Given the description of an element on the screen output the (x, y) to click on. 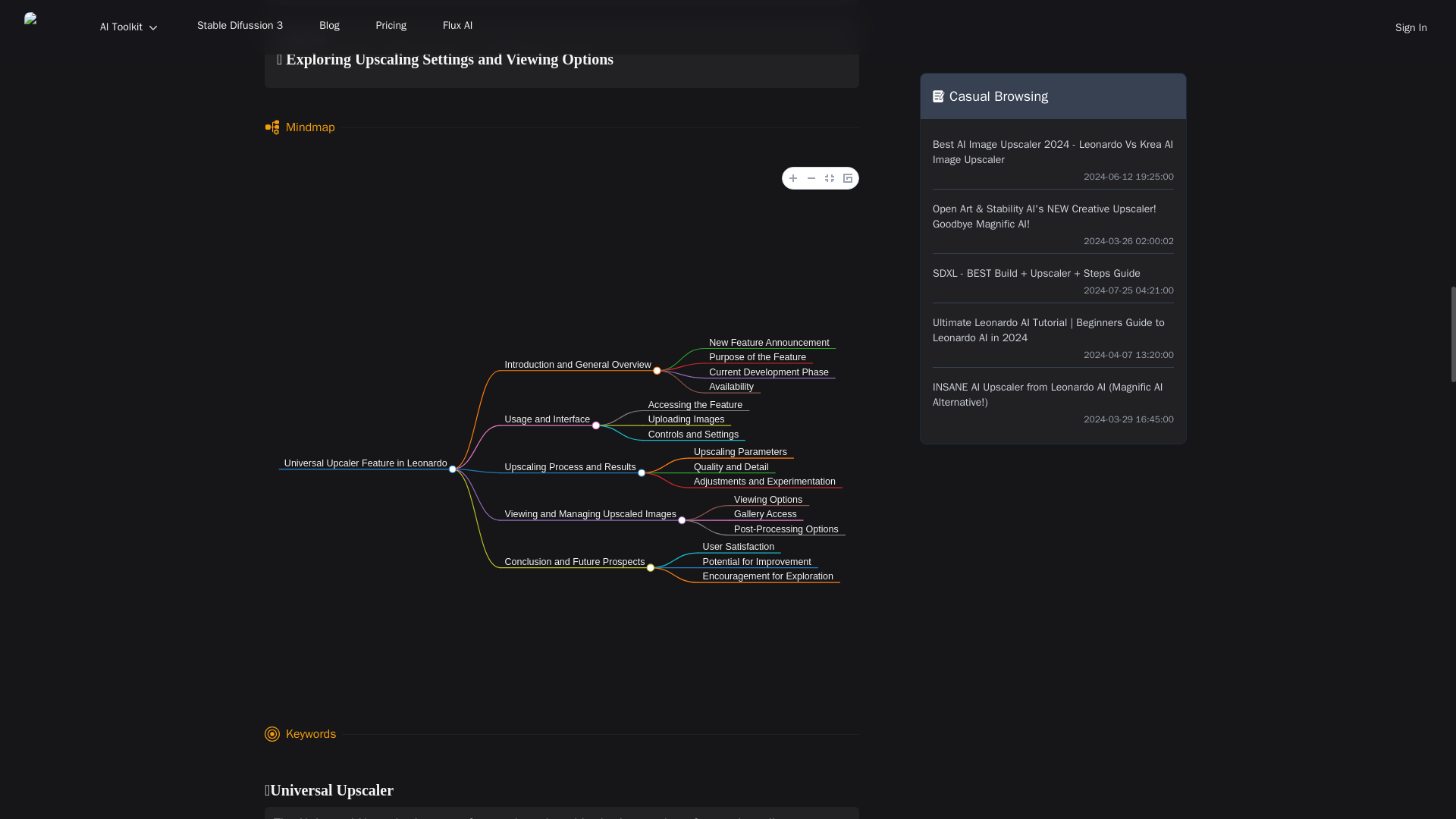
Zoom out (810, 177)
Fit window size (829, 177)
Toggle recursively (848, 177)
Zoom in (793, 177)
